Given the description of an element on the screen output the (x, y) to click on. 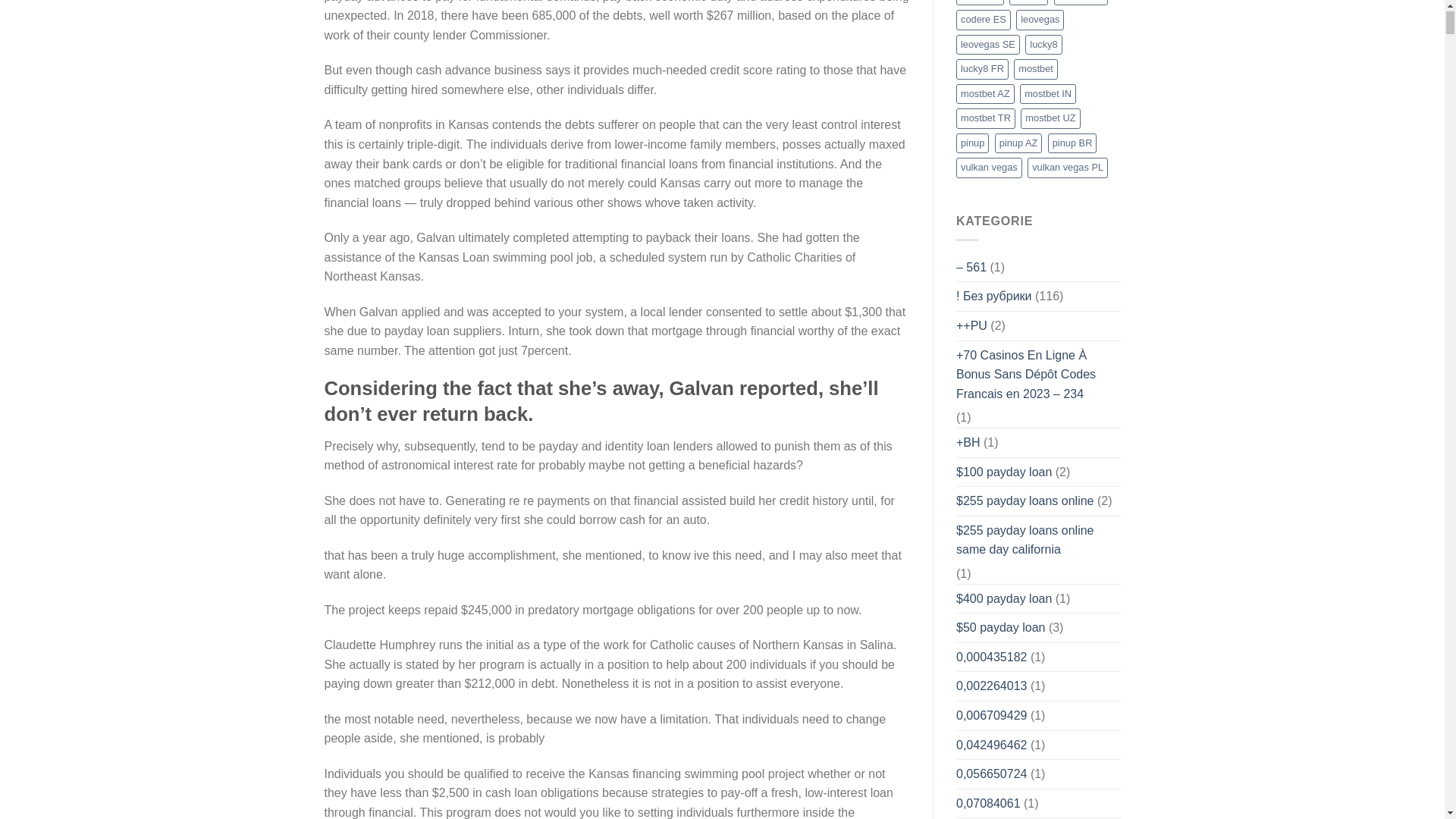
1xbet AZ (980, 2)
